Given the description of an element on the screen output the (x, y) to click on. 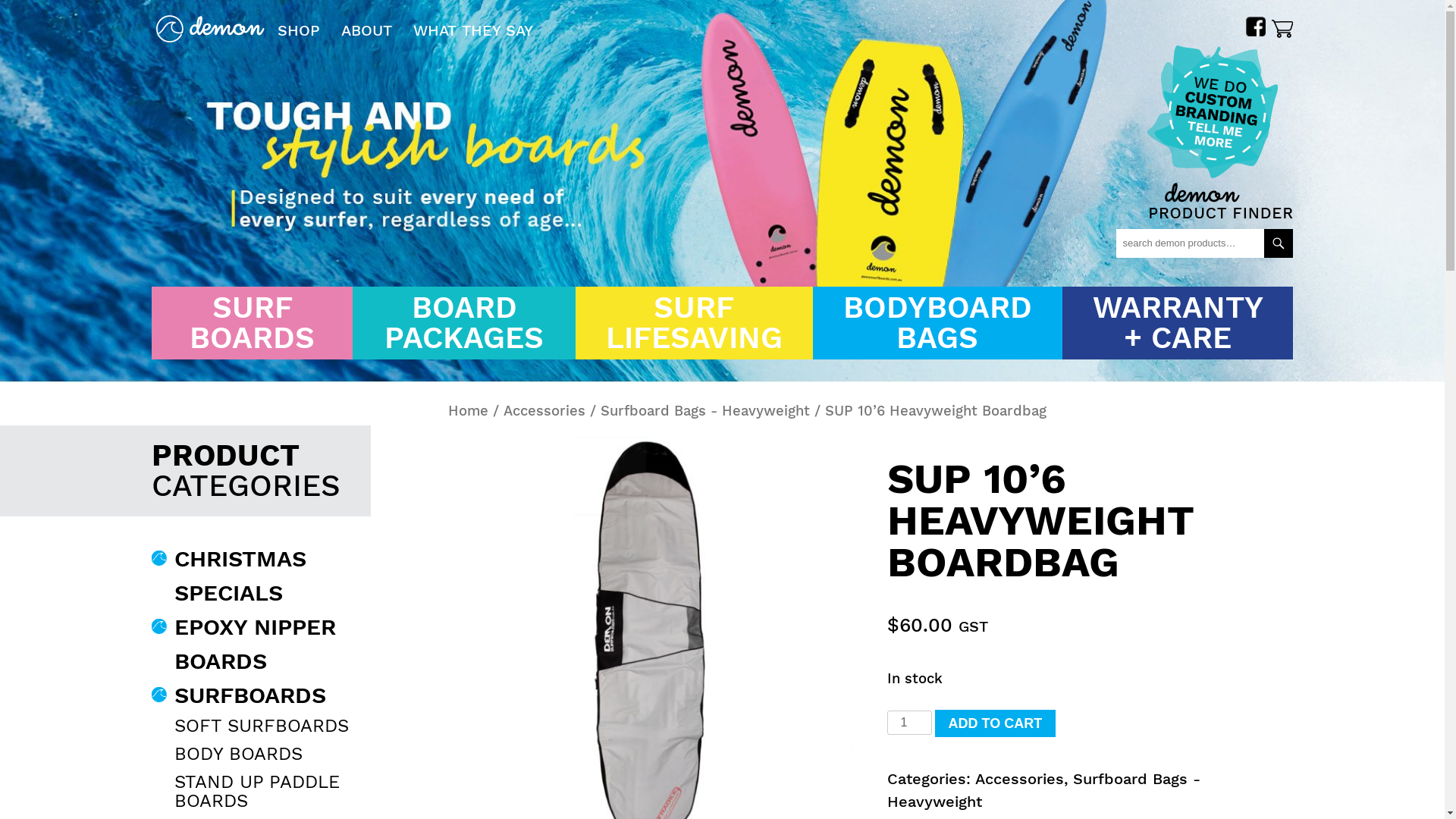
Surfboard Bags - Heavyweight Element type: text (704, 410)
Search Element type: text (1278, 243)
BOARD PACKAGES Element type: text (463, 322)
SURF LIFESAVING Element type: text (693, 322)
ABOUT Element type: text (366, 30)
SOFT SURFBOARDS Element type: text (261, 725)
SURFBOARDS Element type: text (250, 694)
SHOP Element type: text (298, 30)
BODY BOARDS Element type: text (238, 753)
Accessories Element type: text (544, 410)
SURF BOARDS Element type: text (251, 322)
BODYBOARD BAGS Element type: text (937, 322)
Demon Surfboards Element type: text (221, 71)
STAND UP PADDLE BOARDS Element type: text (256, 791)
Home Element type: text (468, 410)
ADD TO CART Element type: text (994, 723)
EPOXY NIPPER BOARDS Element type: text (254, 643)
Surfboard Bags - Heavyweight Element type: text (1043, 789)
CHRISTMAS SPECIALS Element type: text (240, 575)
Accessories Element type: text (1019, 778)
Qty Element type: hover (909, 722)
WARRANTY + CARE Element type: text (1177, 322)
WHAT THEY SAY Element type: text (473, 30)
